Given the description of an element on the screen output the (x, y) to click on. 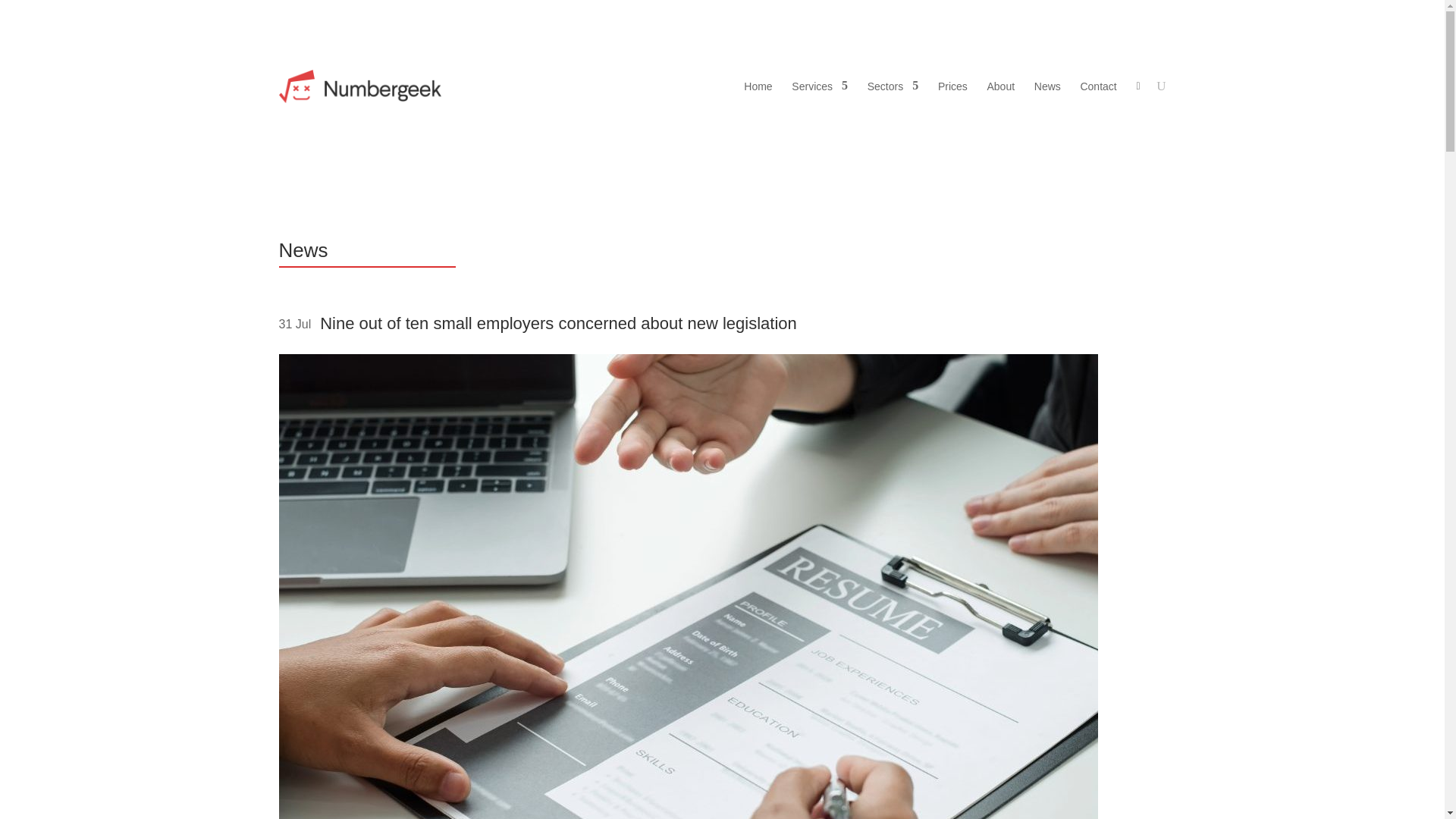
Sectors (892, 86)
Services (819, 86)
